Given the description of an element on the screen output the (x, y) to click on. 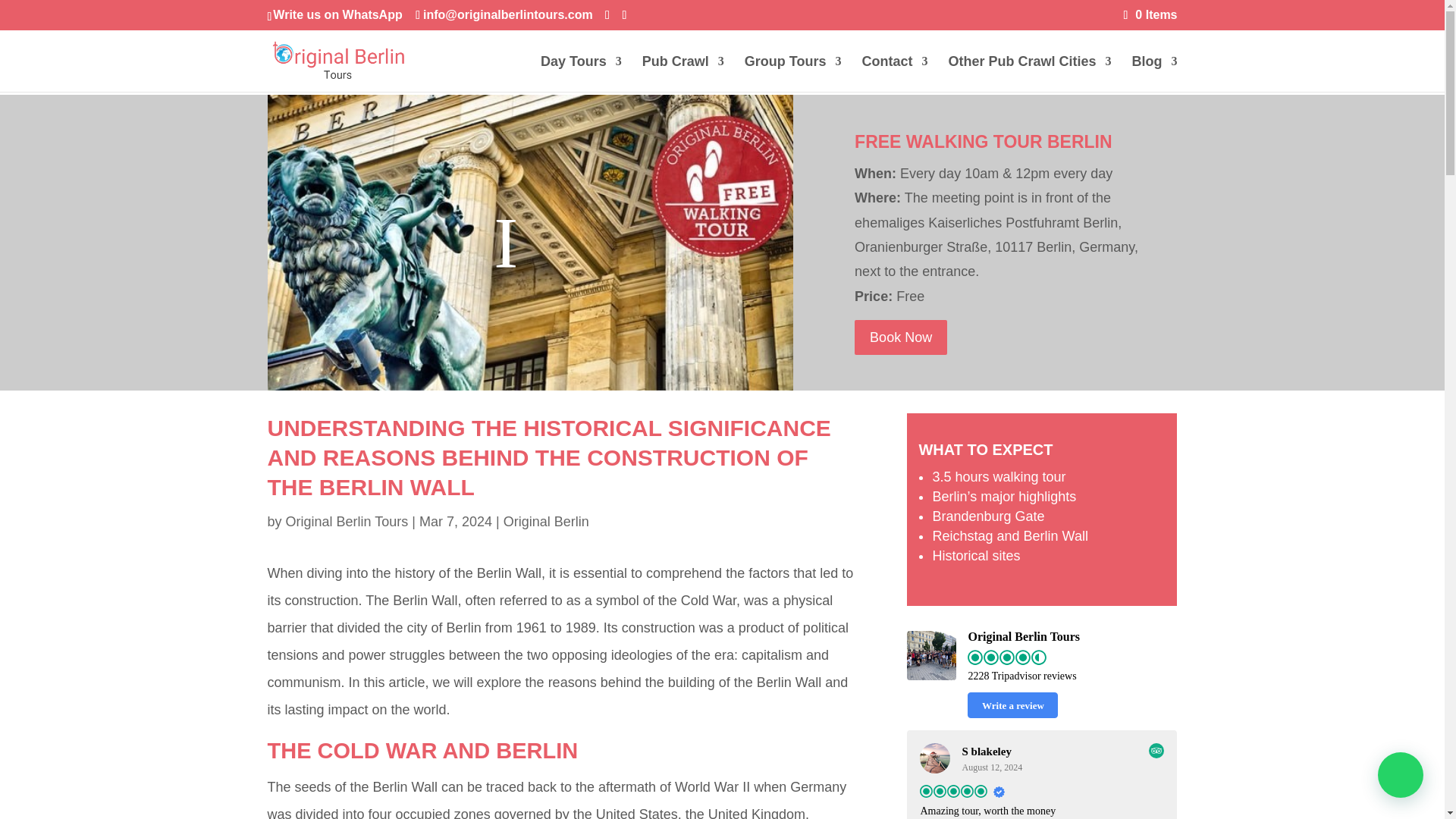
0 Items (1150, 14)
Group Tours (792, 73)
Write us on WhatsApp (337, 14)
Posts by Original Berlin Tours (347, 521)
Pub Crawl (682, 73)
Day Tours (580, 73)
Contact (894, 73)
